Given the description of an element on the screen output the (x, y) to click on. 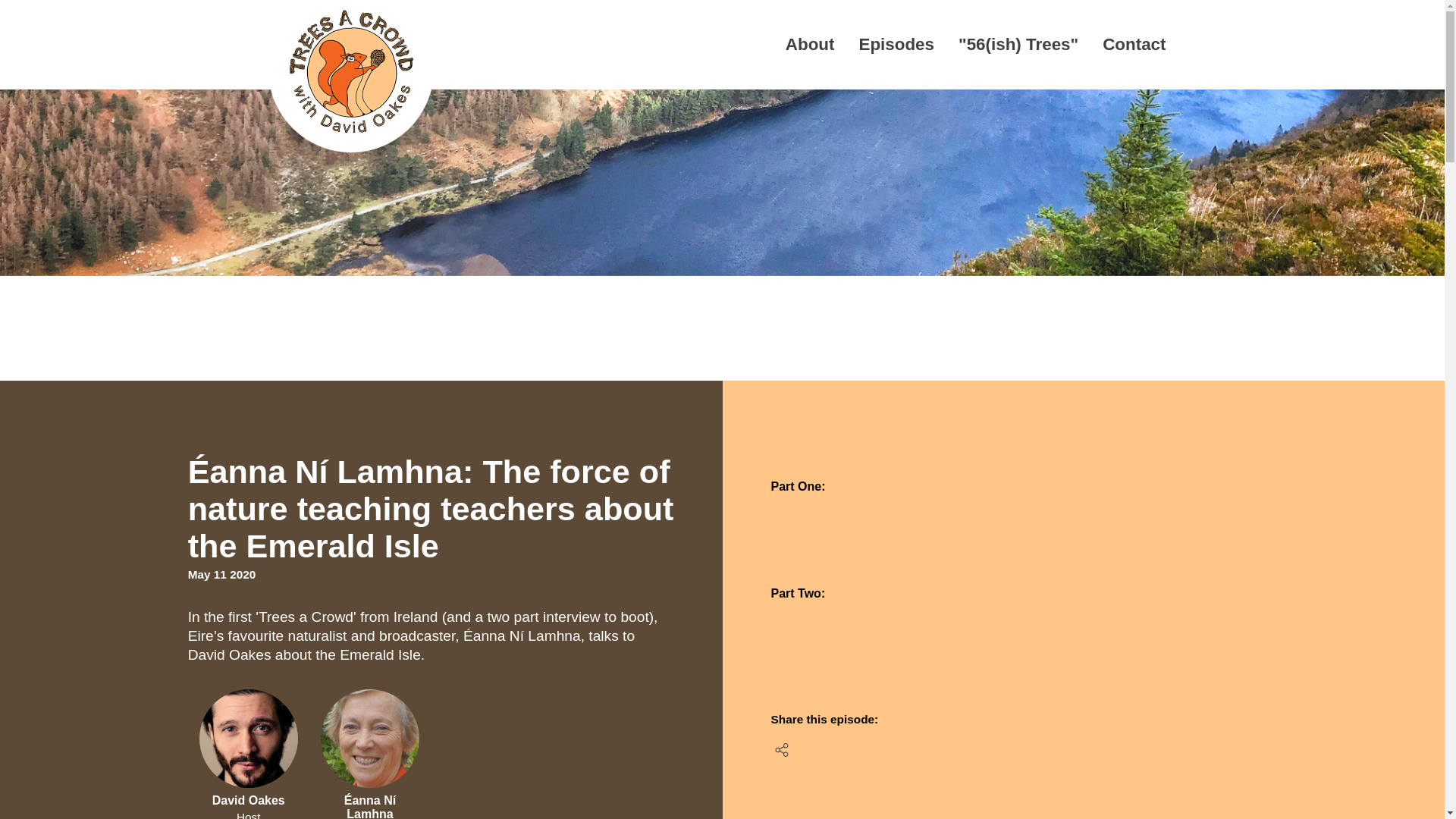
Episodes (884, 50)
Contact (1122, 50)
About (797, 50)
